Given the description of an element on the screen output the (x, y) to click on. 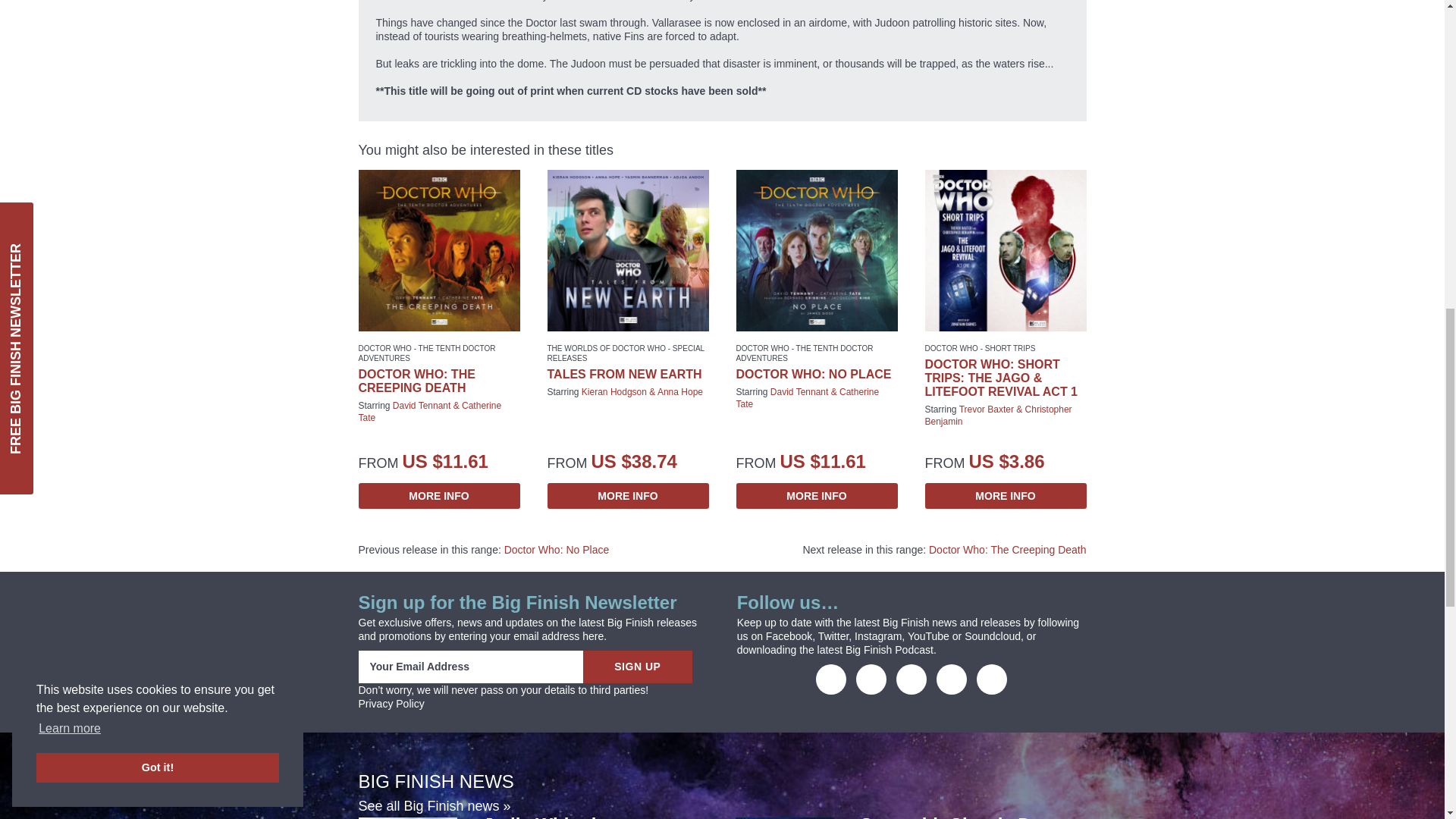
Sign Up (637, 666)
